Given the description of an element on the screen output the (x, y) to click on. 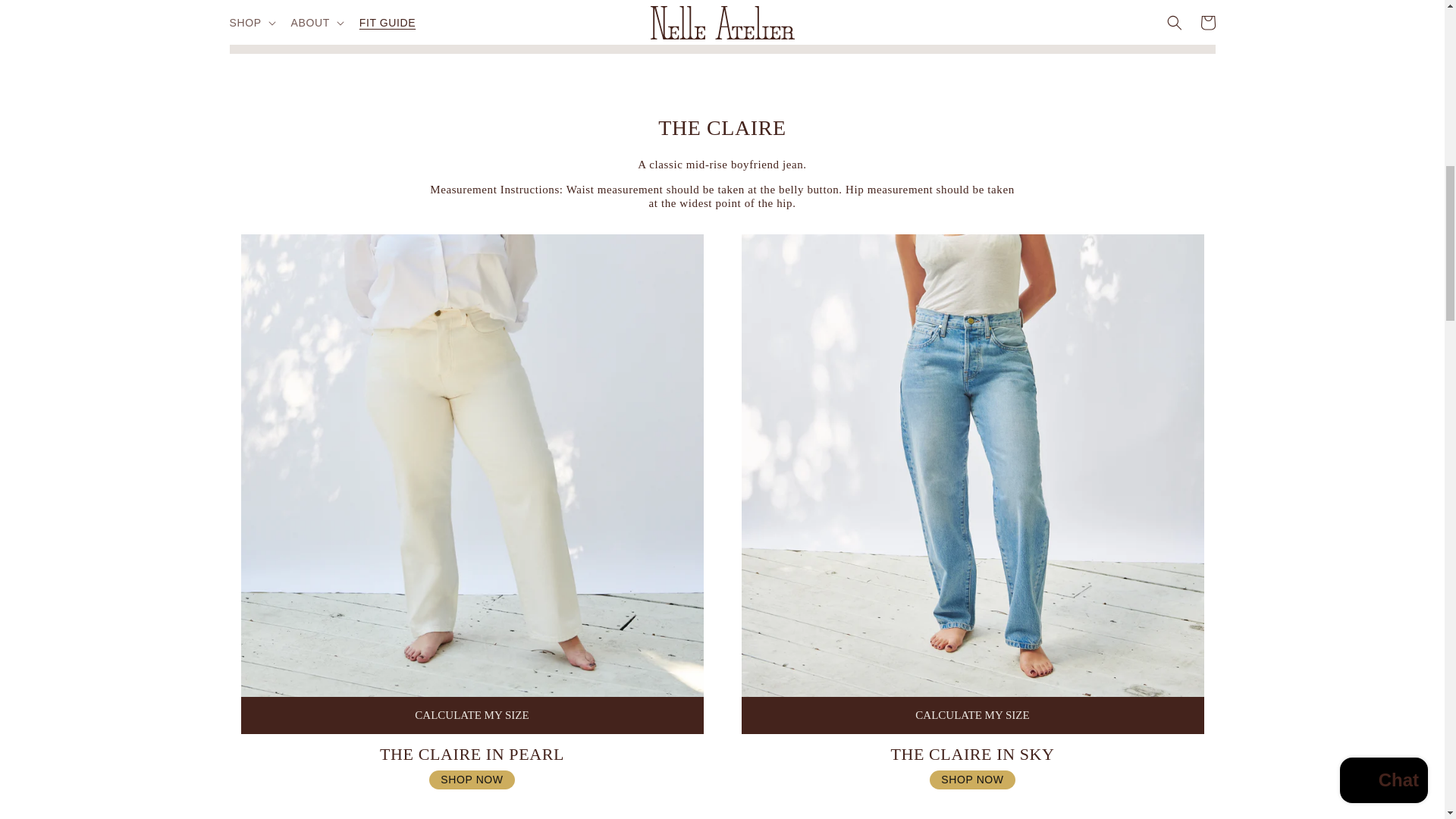
CALCULATE MY SIZE (972, 714)
CALCULATE MY SIZE (472, 714)
SHOP NOW (972, 779)
SHOP NOW (471, 779)
